Given the description of an element on the screen output the (x, y) to click on. 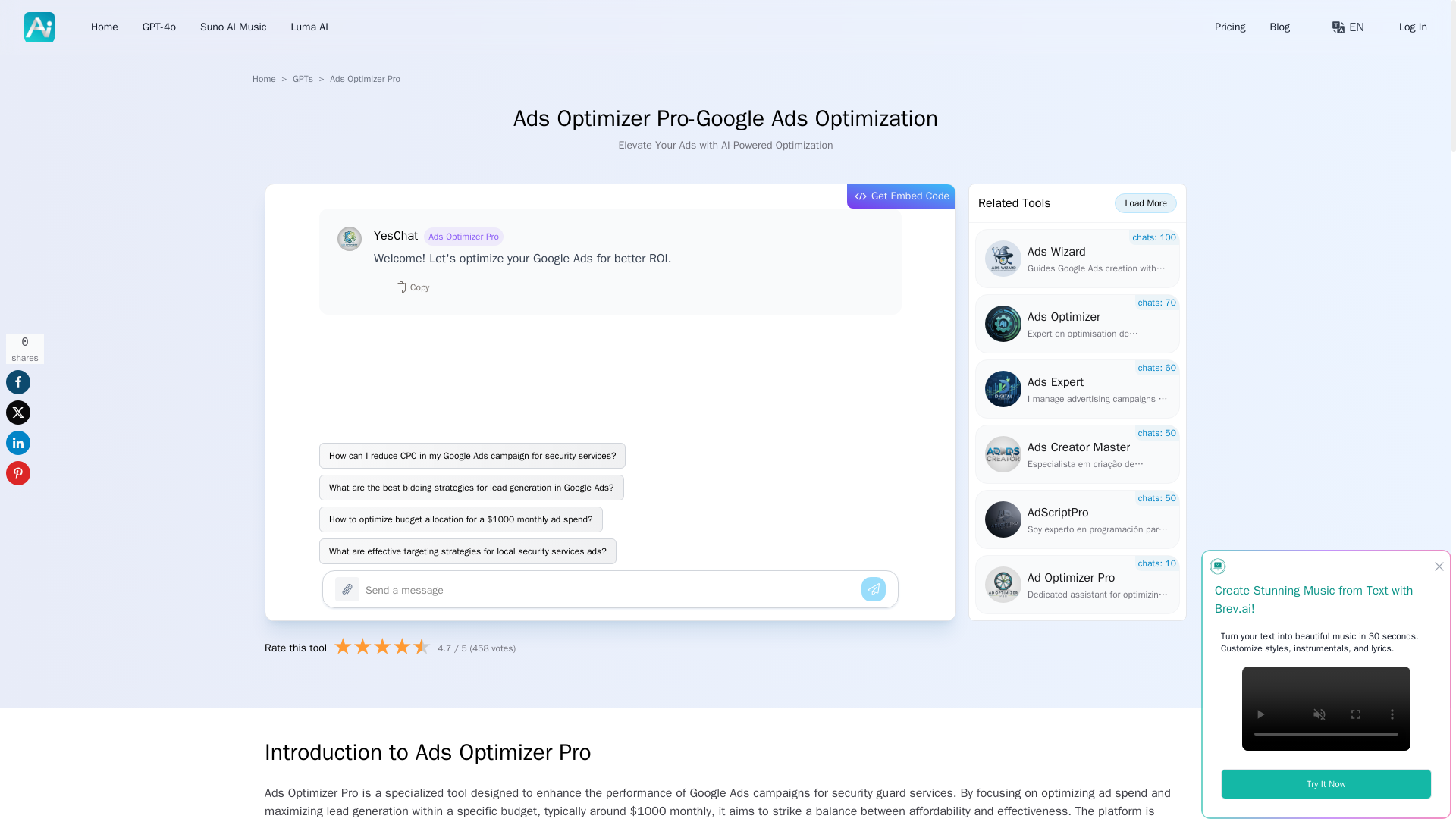
Home (263, 78)
GPT-4o (159, 27)
Log In (1412, 27)
Pricing (1229, 27)
Luma AI (310, 27)
GPTs (302, 78)
Suno AI Music (233, 27)
Load More (1145, 202)
